Given the description of an element on the screen output the (x, y) to click on. 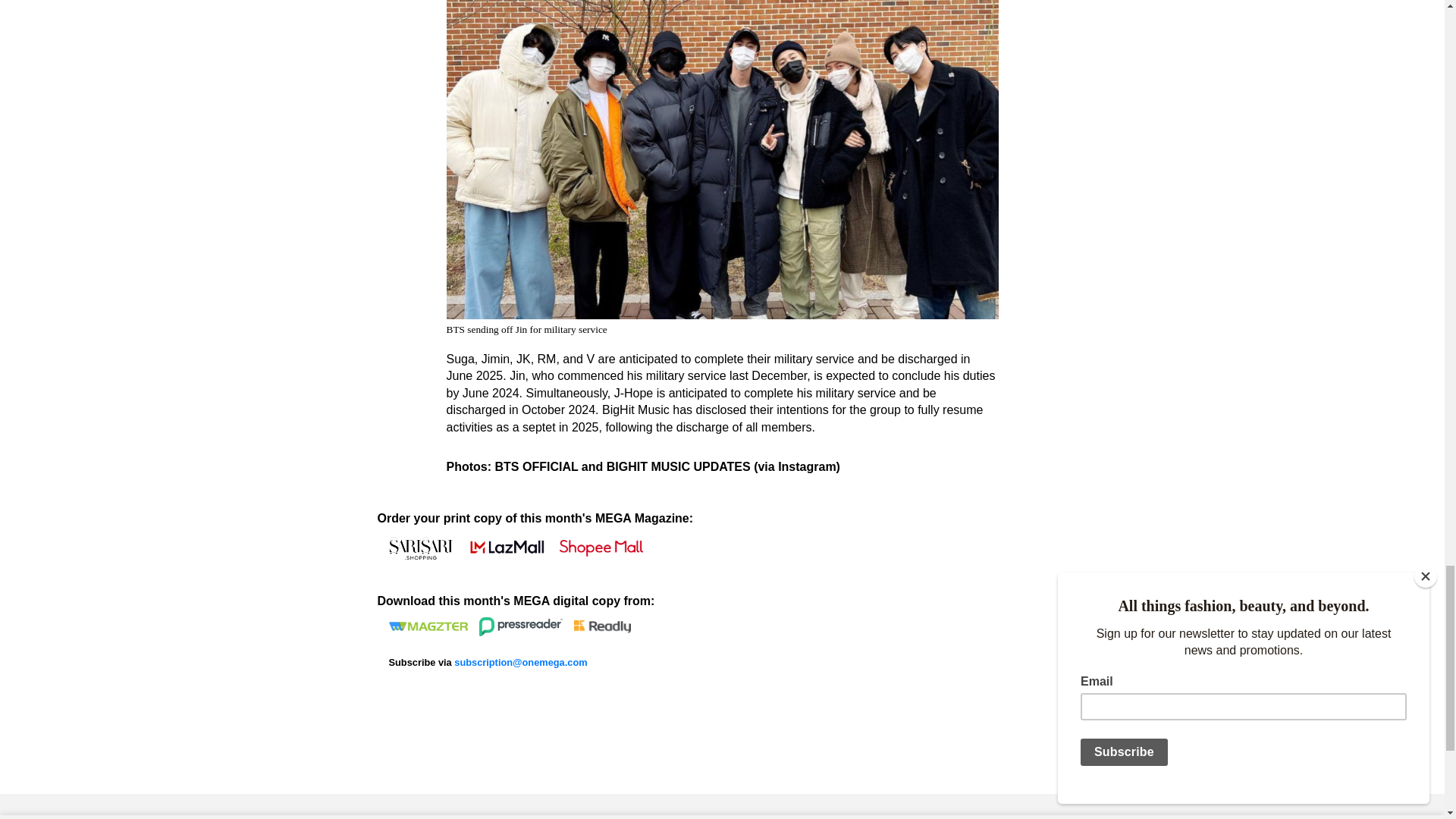
Shopee (601, 547)
Sari Sari Shopping (420, 548)
Magzter (427, 625)
Readly (601, 626)
Subscribe now! (520, 662)
Lazada (505, 547)
Press Reader (520, 626)
